Given the description of an element on the screen output the (x, y) to click on. 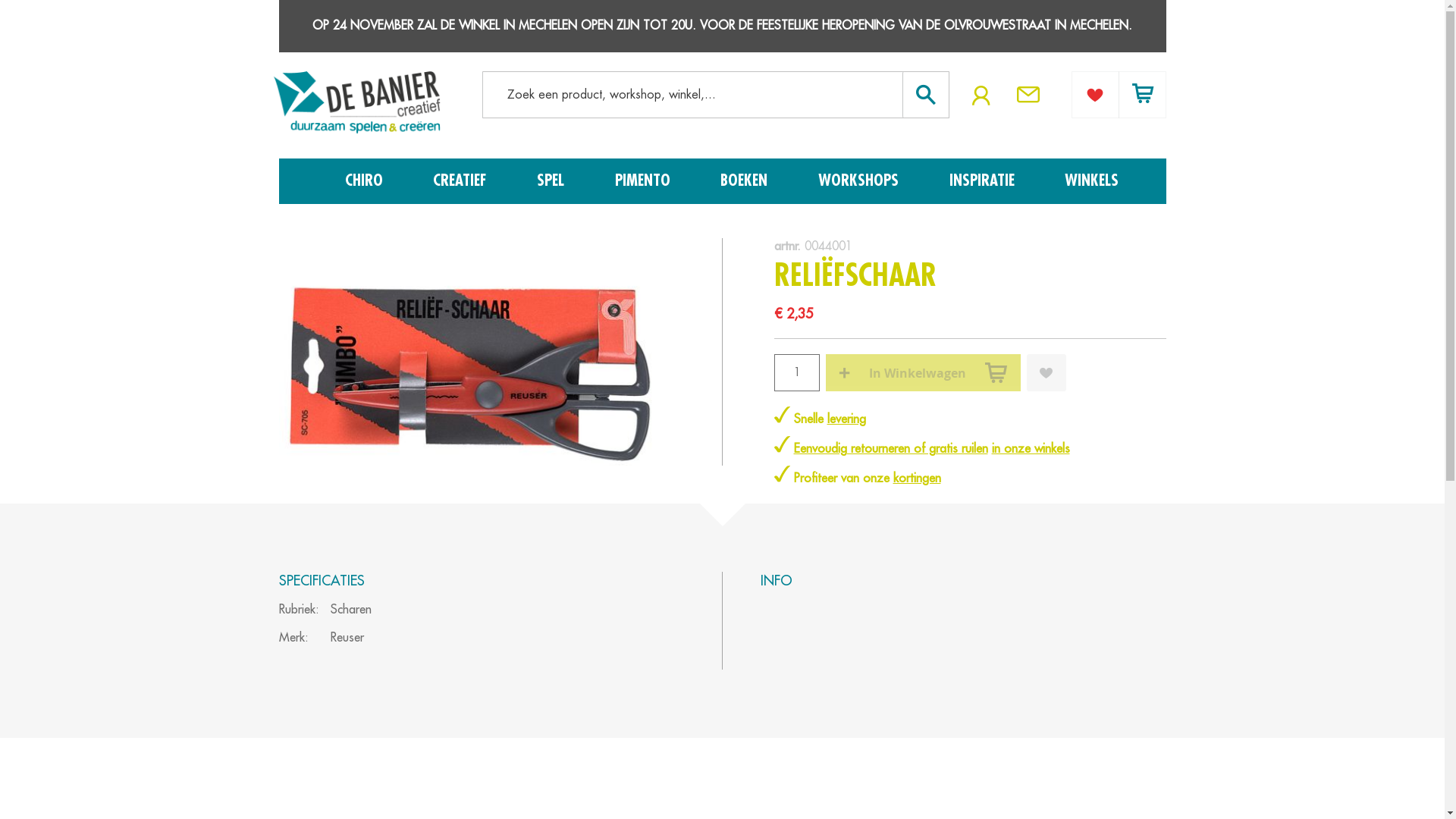
Winkelwagentje Element type: text (1141, 94)
WINKELS Element type: text (1091, 180)
WORKSHOPS Element type: text (861, 180)
De Banier creatief knutselen Element type: hover (356, 105)
Zoek Element type: text (921, 94)
kortingen Element type: text (917, 478)
CREATIEF Element type: text (462, 180)
Aantal Element type: hover (796, 372)
CHIRO Element type: text (366, 180)
in onze winkels Element type: text (1030, 448)
Verlanglijstje Element type: hover (1094, 94)
SPEL Element type: text (553, 180)
Contacteer ons Element type: text (1032, 88)
PIMENTO Element type: text (645, 180)
levering Element type: text (845, 419)
BOEKEN Element type: text (746, 180)
INSPIRATIE Element type: text (984, 180)
Mijn account Element type: text (980, 95)
Eenvoudig retourneren of gratis ruilen Element type: text (890, 448)
In Winkelwagen Element type: text (922, 372)
